Given the description of an element on the screen output the (x, y) to click on. 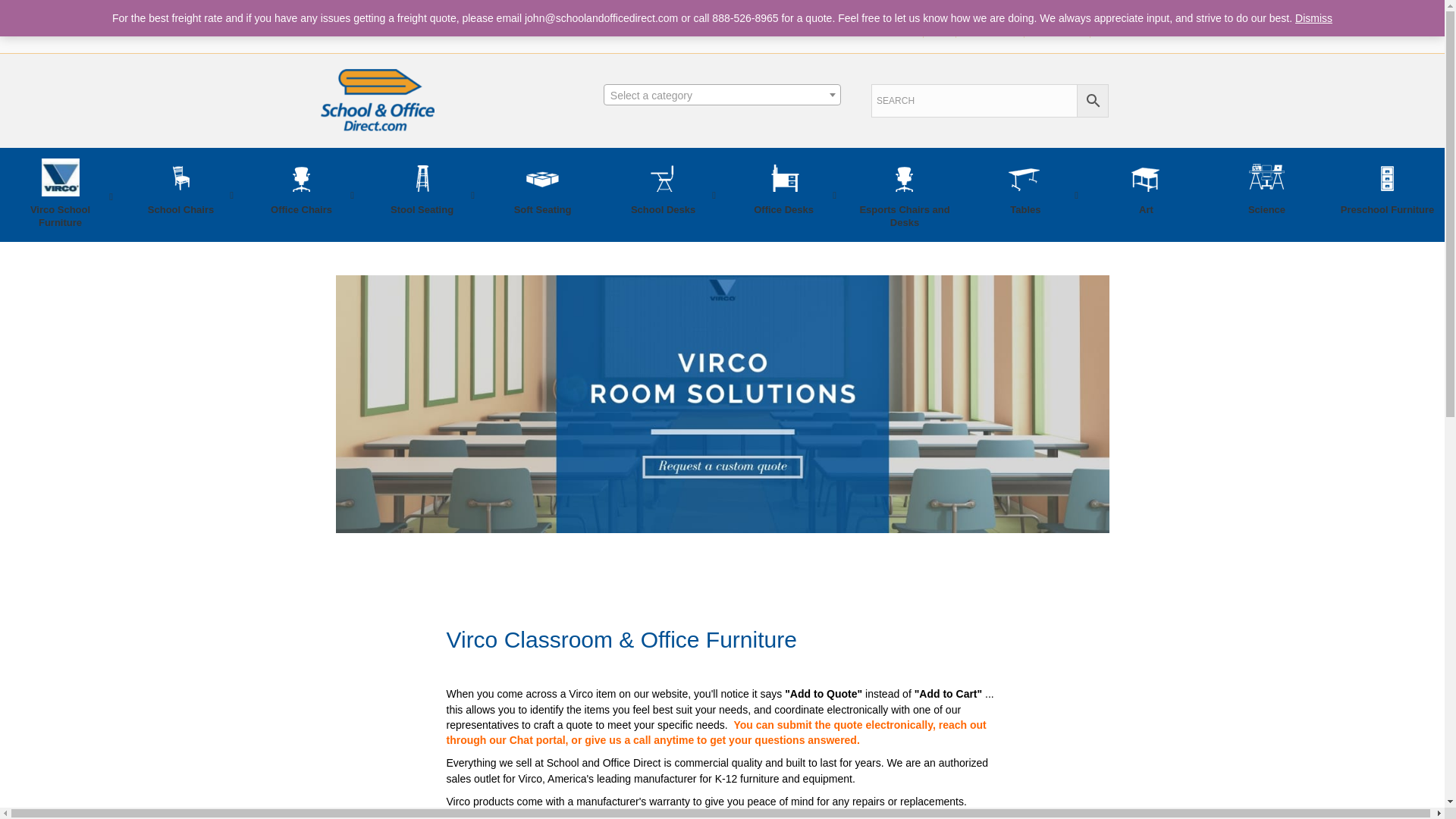
My Wishlist (1057, 22)
School Desks (662, 194)
School Chairs (180, 194)
Office Chairs (301, 194)
Soft Seating (541, 194)
My Account (989, 22)
Virco School Furniture (60, 195)
Blog (1107, 22)
Cart (939, 22)
Request a Quote (876, 22)
Stool Seating (421, 194)
